Given the description of an element on the screen output the (x, y) to click on. 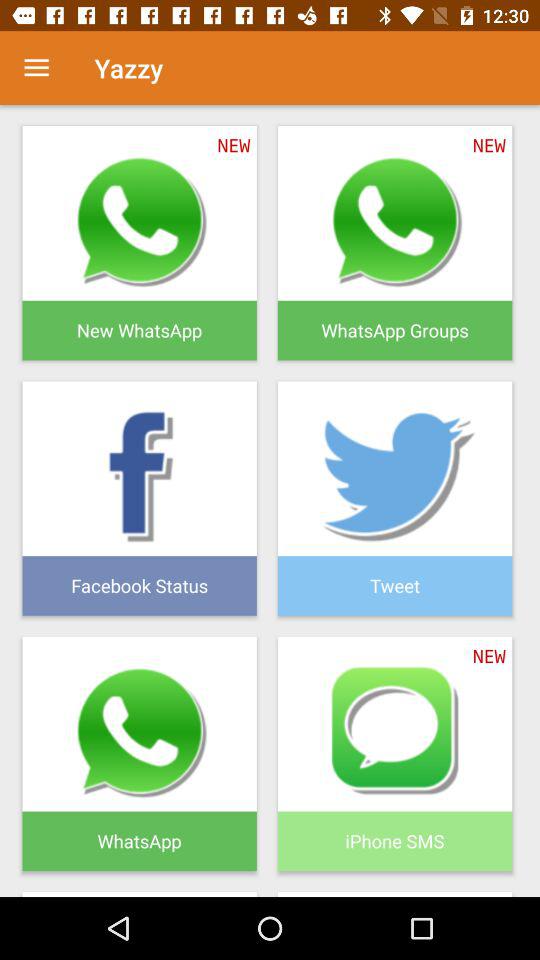
click on the first image from top left (140, 242)
